Given the description of an element on the screen output the (x, y) to click on. 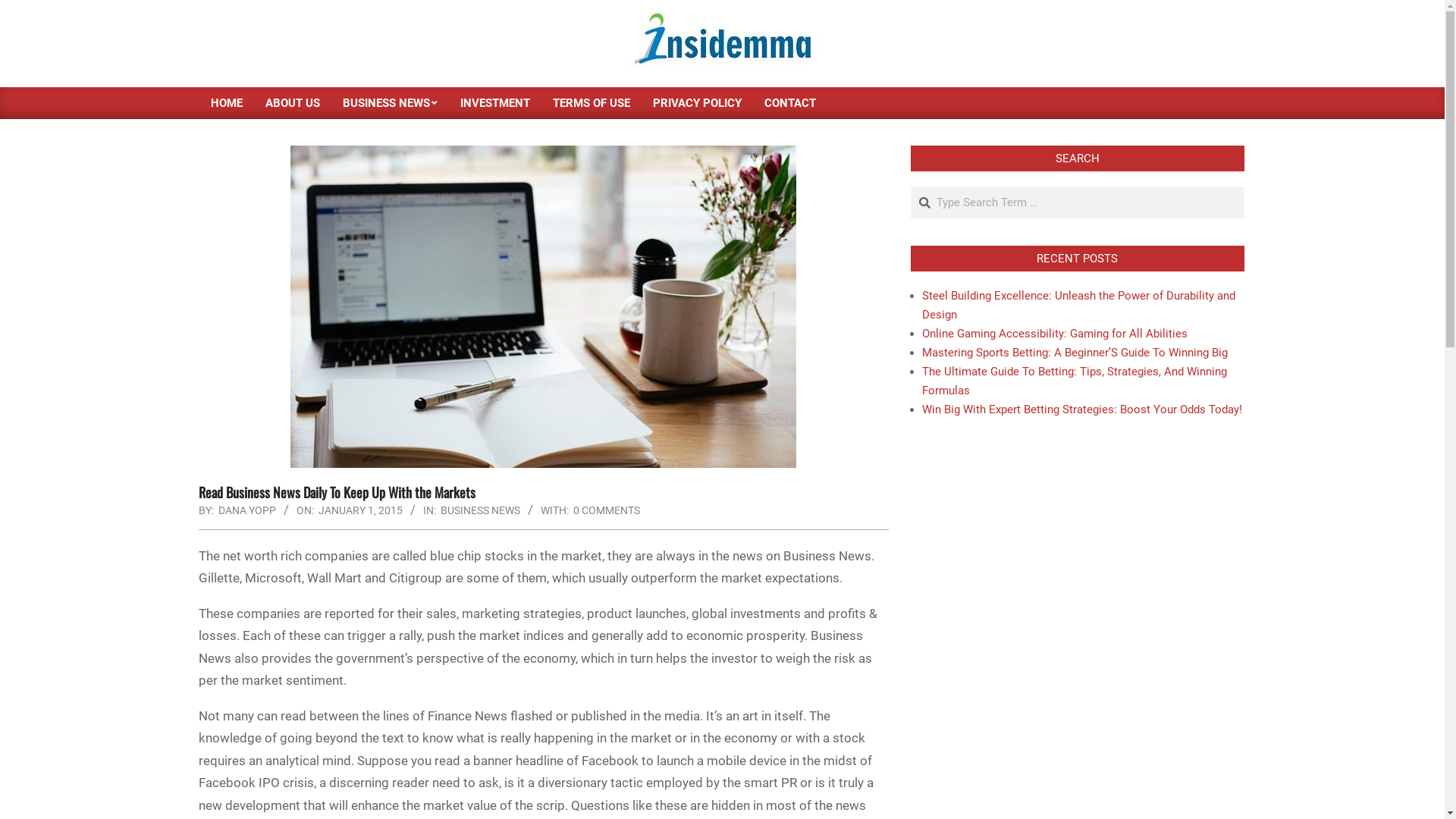
BUSINESS NEWS Element type: text (479, 510)
Online Gaming Accessibility: Gaming for All Abilities Element type: text (1054, 333)
ABOUT US Element type: text (291, 103)
BUSINESS NEWS Element type: text (389, 103)
INVESTMENT Element type: text (494, 103)
CONTACT Element type: text (789, 103)
DANA YOPP Element type: text (247, 510)
HOME Element type: text (225, 103)
PRIVACY POLICY Element type: text (697, 103)
0 COMMENTS Element type: text (606, 510)
TERMS OF USE Element type: text (591, 103)
